Given the description of an element on the screen output the (x, y) to click on. 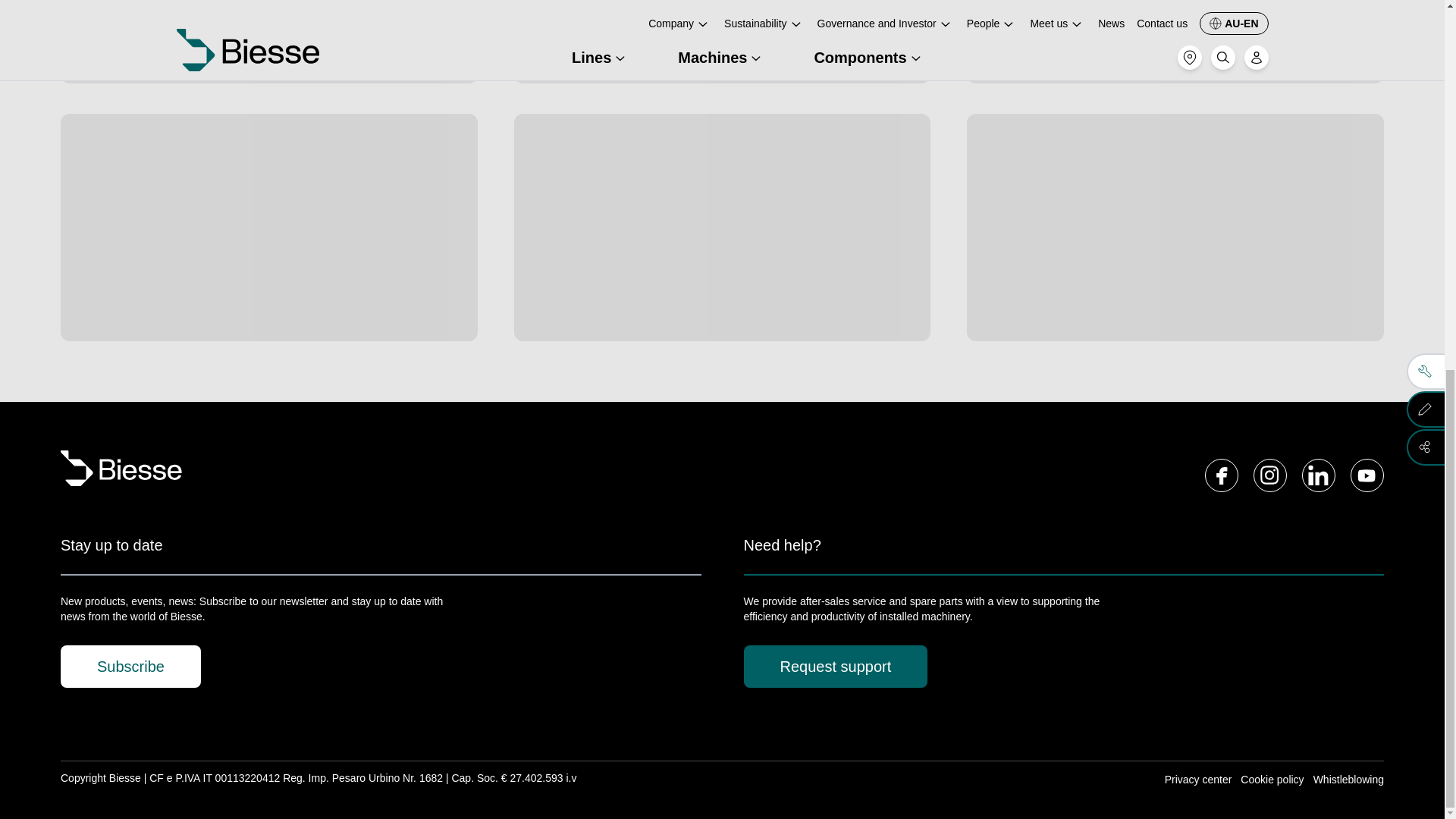
Request support (834, 666)
Cookie policy (1271, 779)
Privacy center (1197, 779)
Subscribe (130, 666)
Whistleblowing (1348, 779)
